Given the description of an element on the screen output the (x, y) to click on. 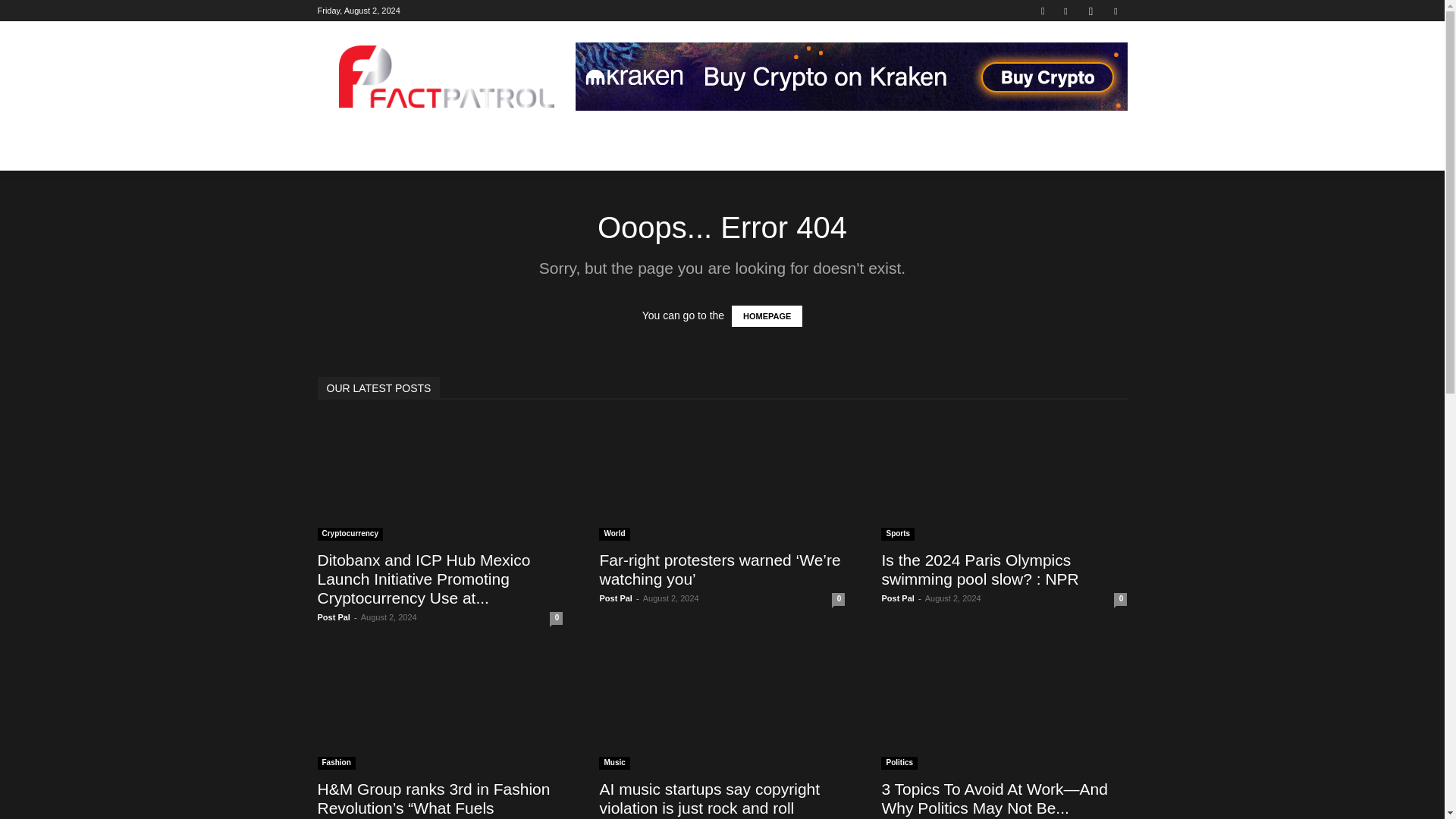
MUSIC (617, 143)
Is the 2024 Paris Olympics swimming pool slow? : NPR (1003, 479)
SPORTS (556, 143)
Instagram (1090, 10)
Search (1085, 64)
WORLD (347, 143)
POLITICS (413, 143)
Facebook (1065, 10)
Is the 2024 Paris Olympics swimming pool slow? : NPR (979, 569)
Twitter (1114, 10)
BUSINESS (486, 143)
